Given the description of an element on the screen output the (x, y) to click on. 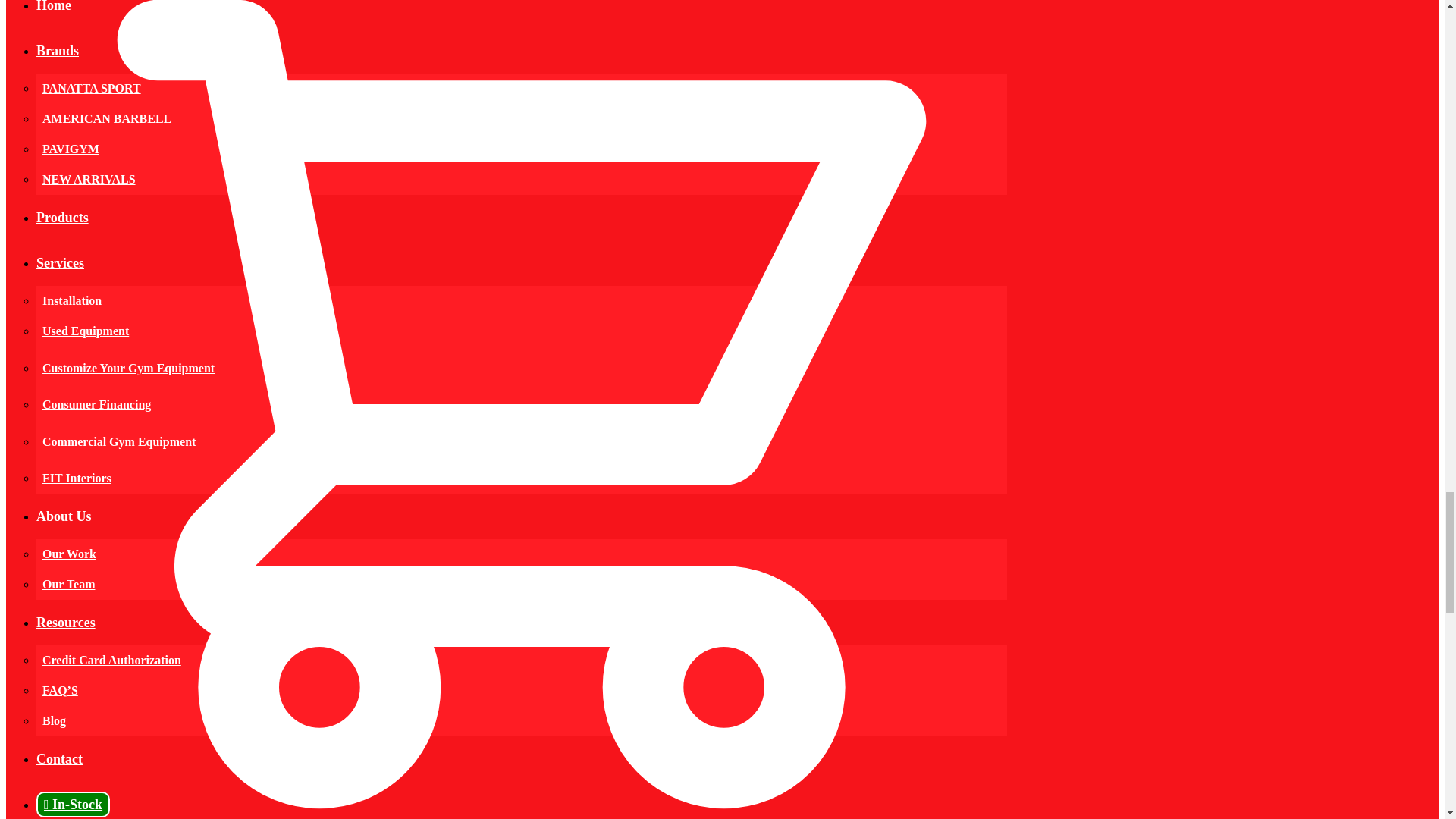
Products (62, 217)
Blog (53, 720)
Installation (71, 300)
PANATTA SPORT (91, 88)
PAVIGYM (70, 148)
Customize Your Gym Equipment (128, 367)
NEW ARRIVALS (88, 178)
Resources (66, 622)
Our Team (69, 584)
